Given the description of an element on the screen output the (x, y) to click on. 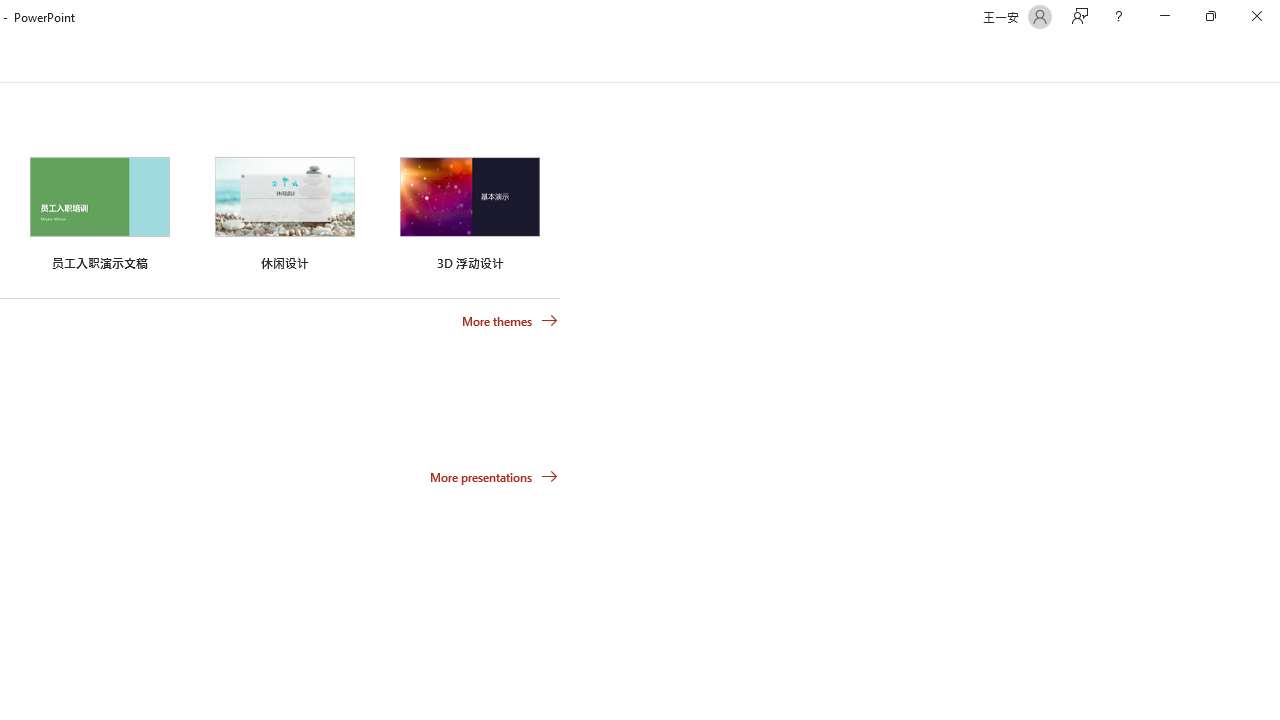
Restore Down (1210, 16)
More themes (509, 321)
More presentations (493, 476)
Minimize (1164, 16)
Close (1256, 16)
Class: NetUIScrollBar (1271, 59)
